Given the description of an element on the screen output the (x, y) to click on. 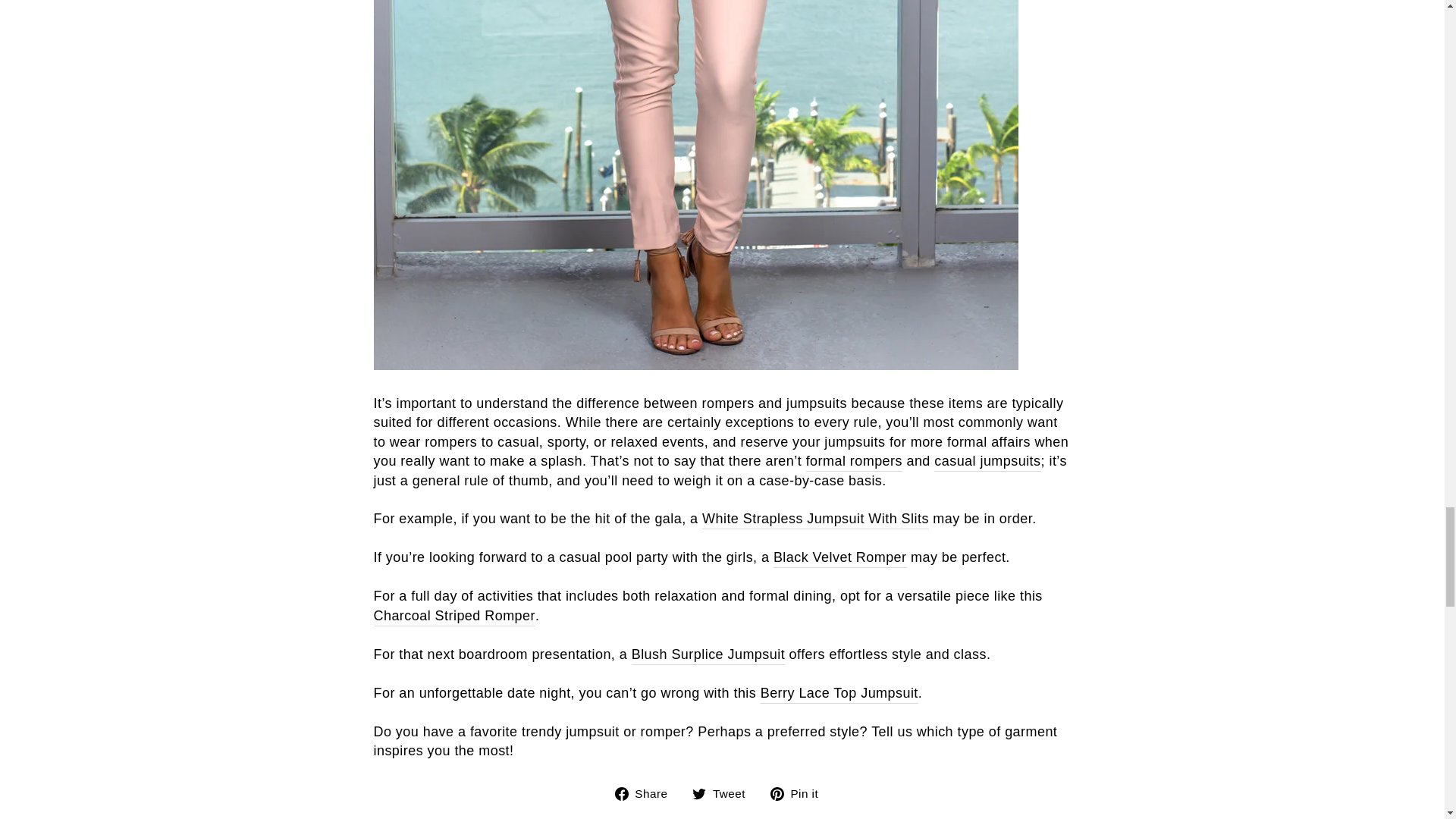
Pin on Pinterest (799, 793)
Share on Facebook (646, 793)
Tweet on Twitter (725, 793)
